Given the description of an element on the screen output the (x, y) to click on. 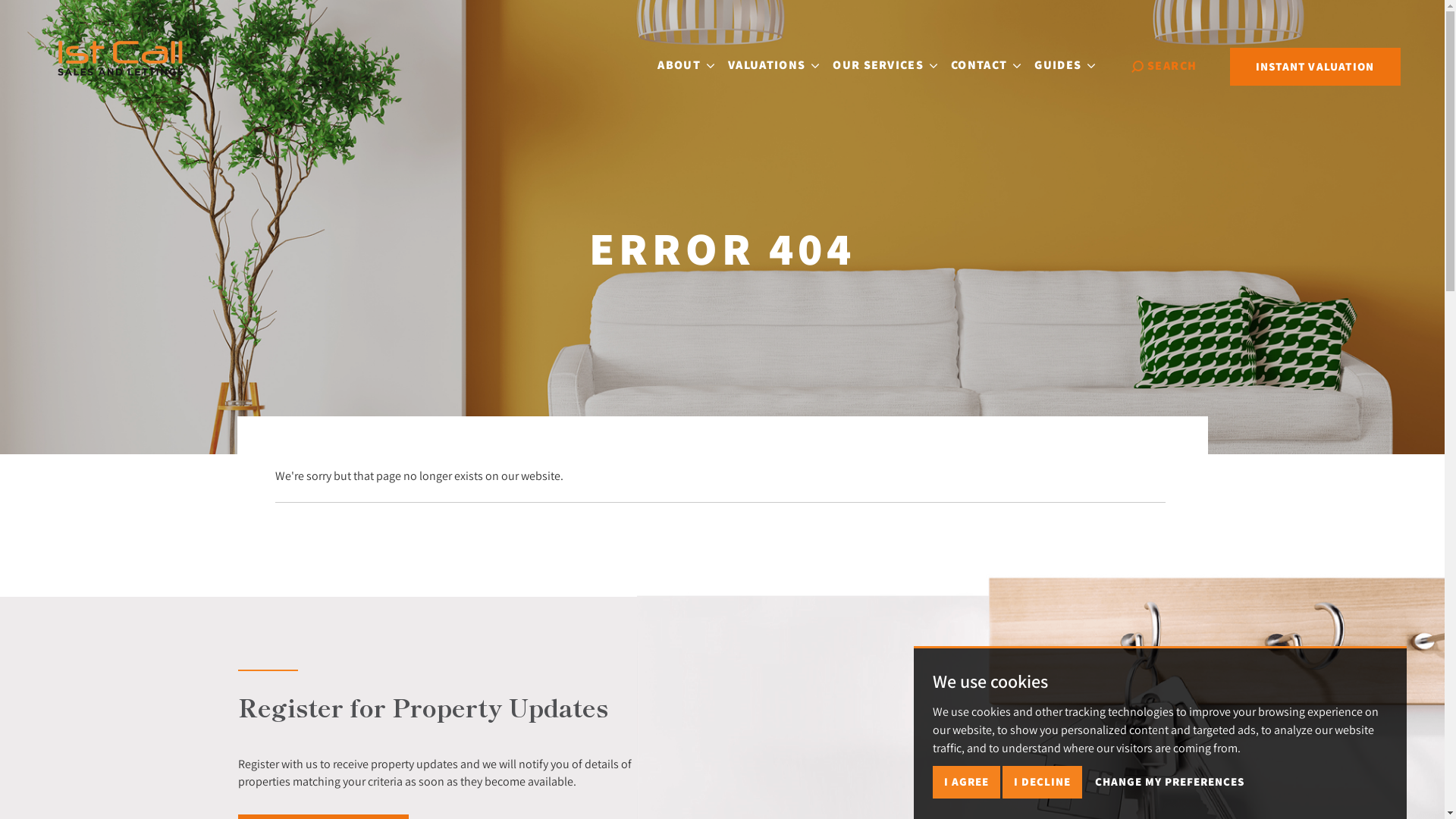
I DECLINE Element type: text (1042, 781)
CHANGE MY PREFERENCES Element type: text (1169, 781)
INSTANT VALUATION Element type: text (1315, 66)
OUR SERVICES Element type: text (884, 65)
VALUATIONS Element type: text (773, 65)
CONTACT Element type: text (985, 65)
I AGREE Element type: text (966, 781)
GUIDES Element type: text (1064, 65)
SEARCH Element type: text (1163, 65)
ABOUT Element type: text (685, 65)
